Given the description of an element on the screen output the (x, y) to click on. 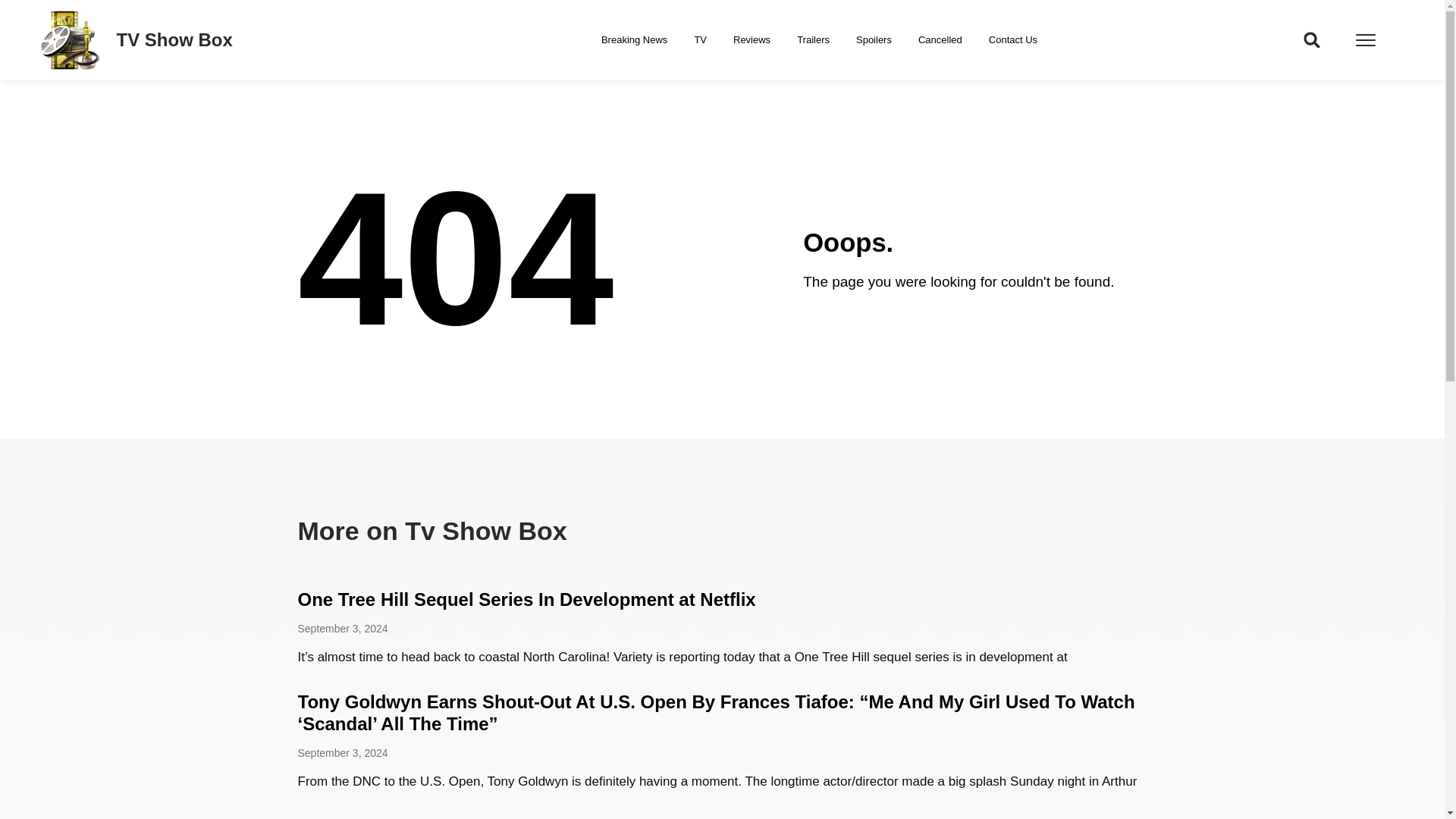
Cancelled (940, 40)
TV Show Box (173, 39)
One Tree Hill Sequel Series In Development at Netflix (526, 598)
Breaking News (633, 40)
Contact Us (1012, 40)
